Given the description of an element on the screen output the (x, y) to click on. 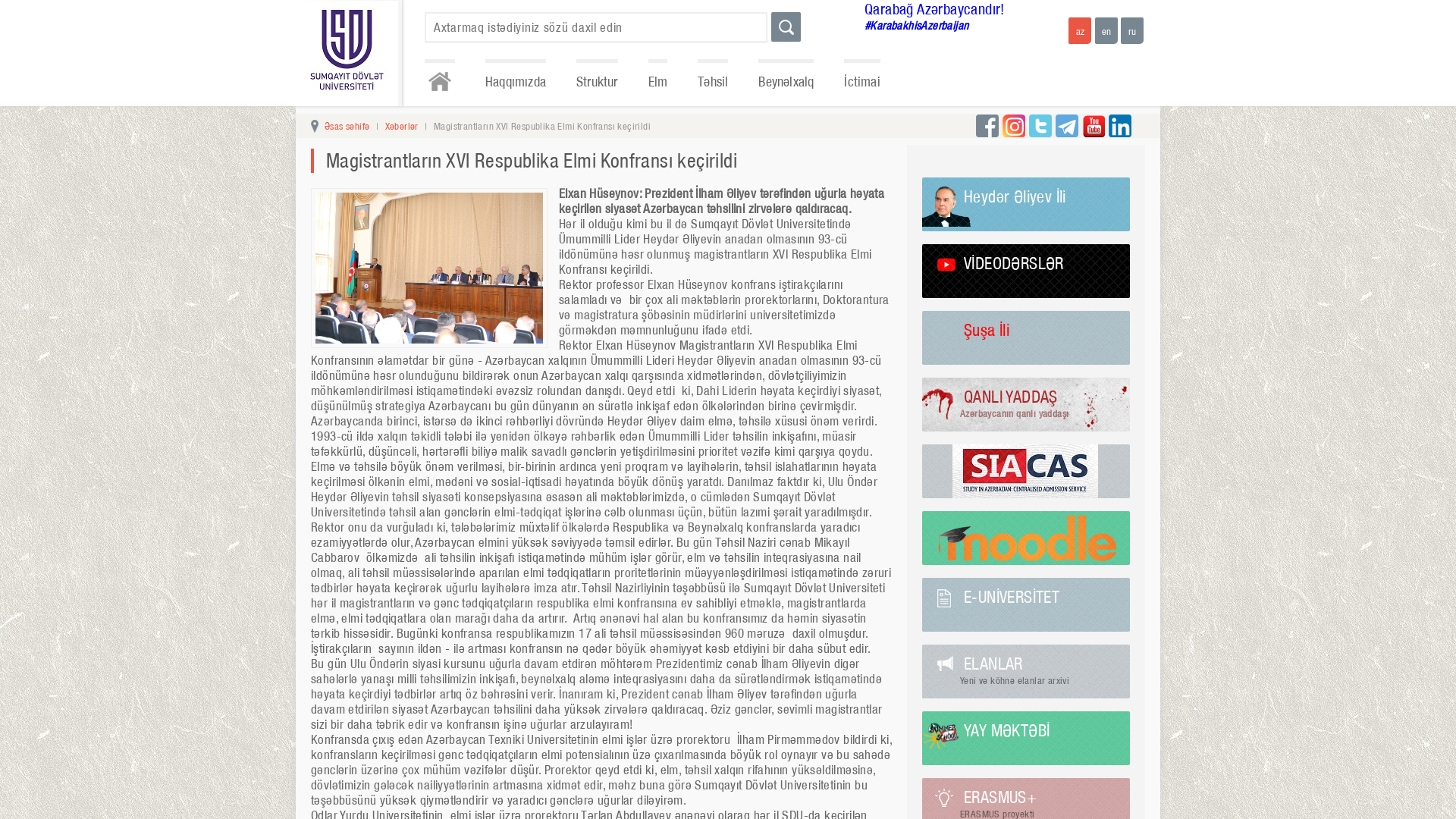
Struktur Element type: text (597, 79)
twitter Element type: hover (1040, 125)
instagram Element type: hover (1013, 125)
Elm Element type: text (658, 79)
#KarabakhisAzerbaijan Element type: text (961, 25)
linkedin Element type: hover (1119, 125)
telegram Element type: hover (1066, 125)
Axtar Element type: hover (785, 26)
